Given the description of an element on the screen output the (x, y) to click on. 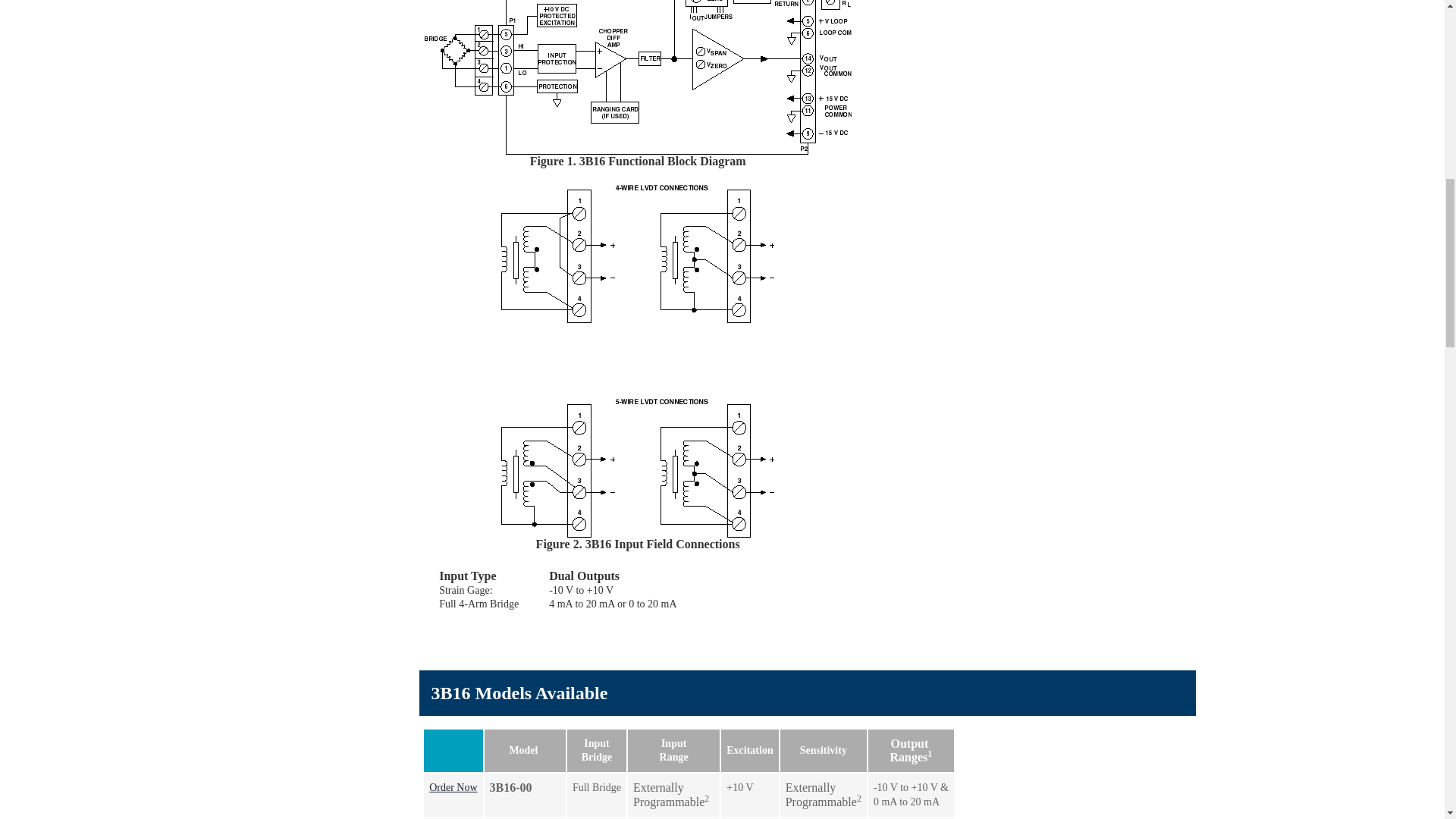
Order Now (453, 787)
